Given the description of an element on the screen output the (x, y) to click on. 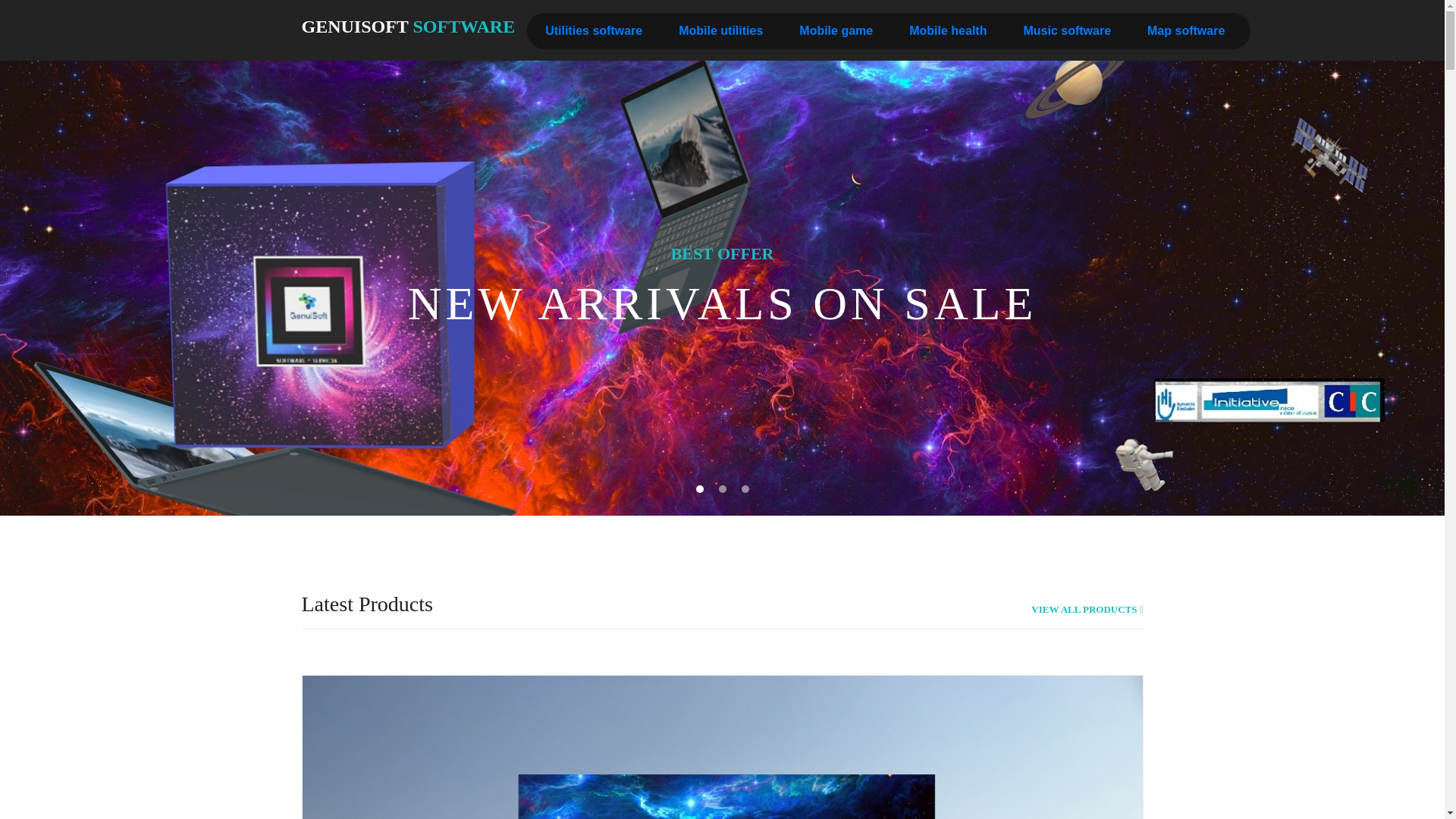
Mobile game (835, 30)
Map software (1185, 30)
GENUISOFT SOFTWARE (408, 26)
Utilities software (593, 30)
Mobile health (947, 30)
Mobile utilities (720, 30)
Music software (1066, 30)
VIEW ALL PRODUCTS (1086, 609)
